Given the description of an element on the screen output the (x, y) to click on. 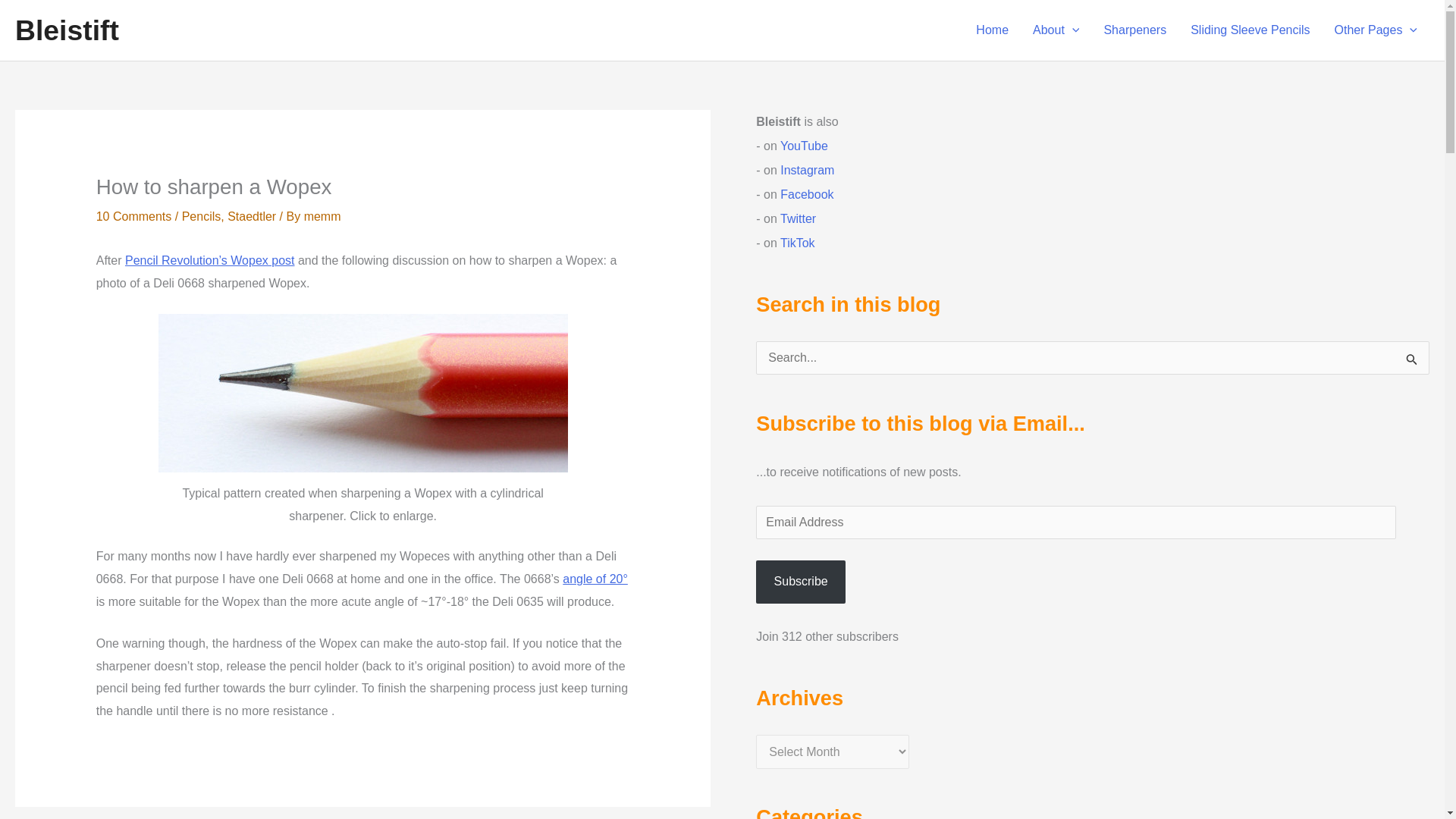
Other Pages (1375, 30)
memm (322, 215)
Pencils (201, 215)
Sliding Sleeve Pencils (1249, 30)
View all posts by memm (322, 215)
Bleistift (66, 29)
10 Comments (133, 215)
Staedtler (251, 215)
Home (991, 30)
Sharpeners (1133, 30)
